Given the description of an element on the screen output the (x, y) to click on. 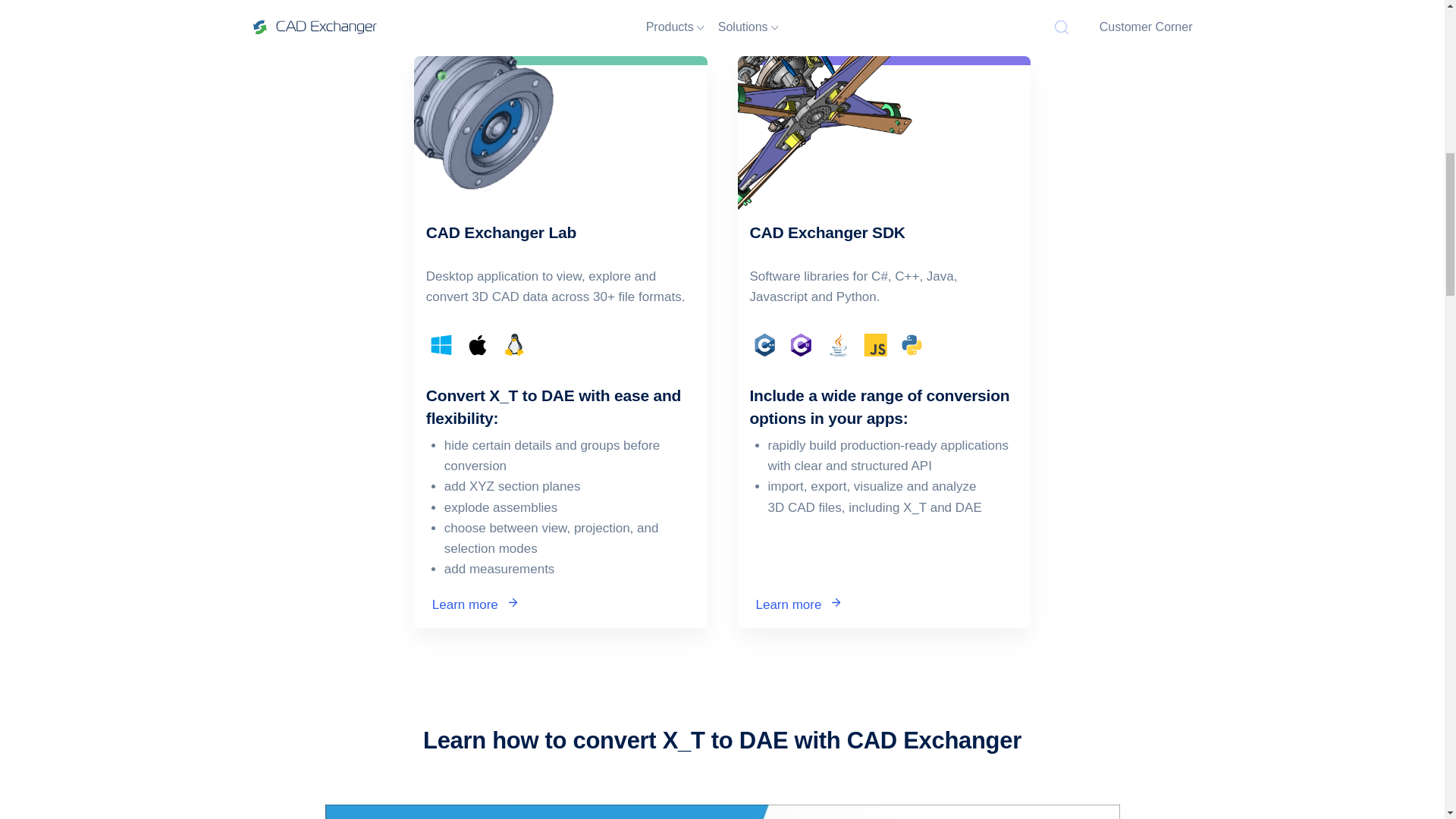
Java (837, 345)
Windows (441, 345)
JavaScript (875, 345)
Python (911, 345)
MacOS (478, 345)
Learn more  (883, 603)
Linux (514, 345)
Learn more  (560, 603)
